Given the description of an element on the screen output the (x, y) to click on. 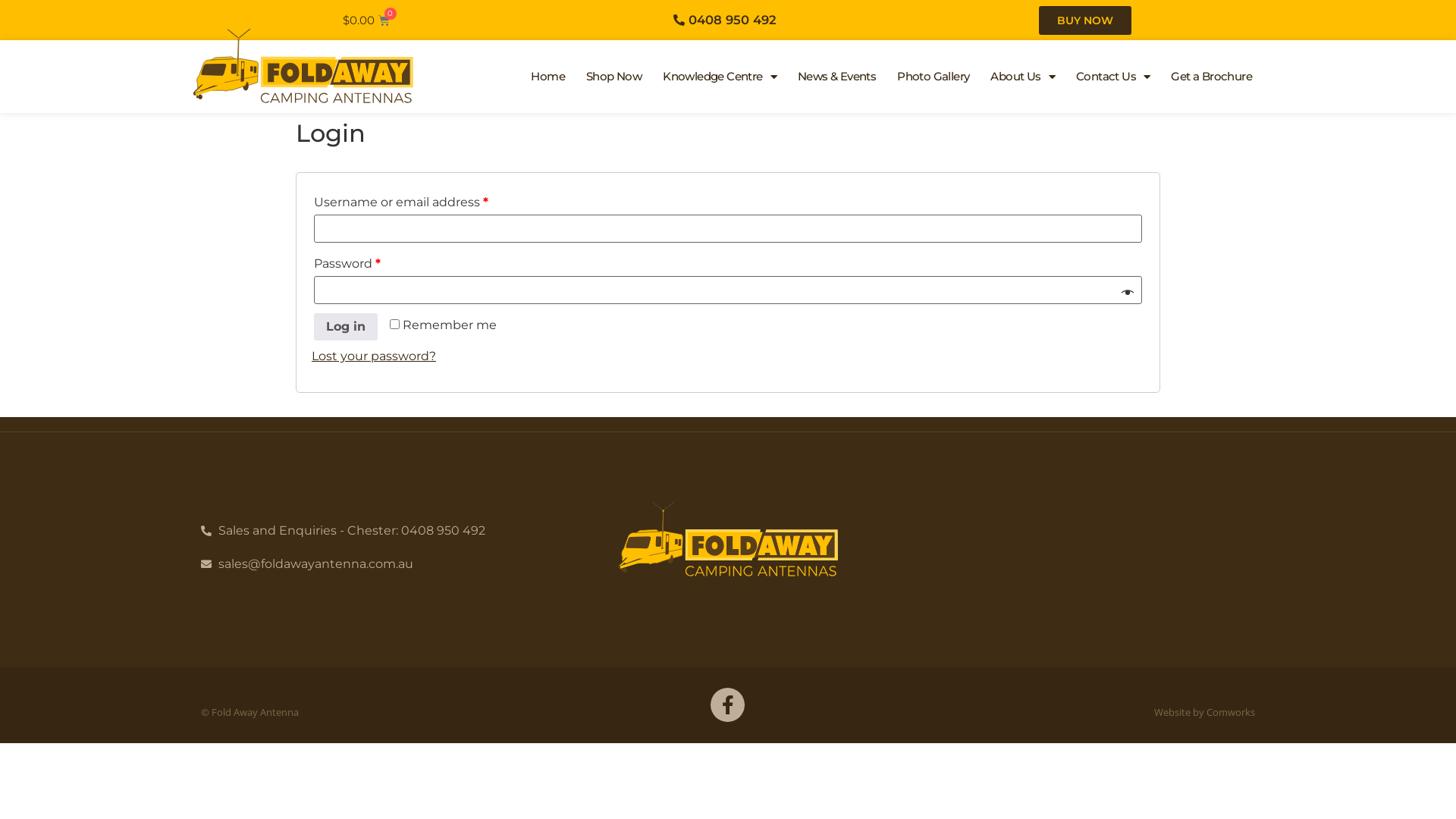
Log in Element type: text (345, 326)
Shop Now Element type: text (613, 76)
0408 950 492 Element type: text (723, 19)
About Us Element type: text (1022, 76)
Home Element type: text (547, 76)
Contact Us Element type: text (1112, 76)
News & Events Element type: text (836, 76)
Photo Gallery Element type: text (932, 76)
$0.00
0 Element type: text (365, 19)
Sales and Enquiries - Chester: 0408 950 492 Element type: text (374, 530)
Comworks Element type: text (1230, 711)
Get a Brochure Element type: text (1211, 76)
Knowledge Centre Element type: text (719, 76)
sales@foldawayantenna.com.au Element type: text (374, 564)
Lost your password? Element type: text (373, 355)
BUY NOW Element type: text (1084, 20)
